Given the description of an element on the screen output the (x, y) to click on. 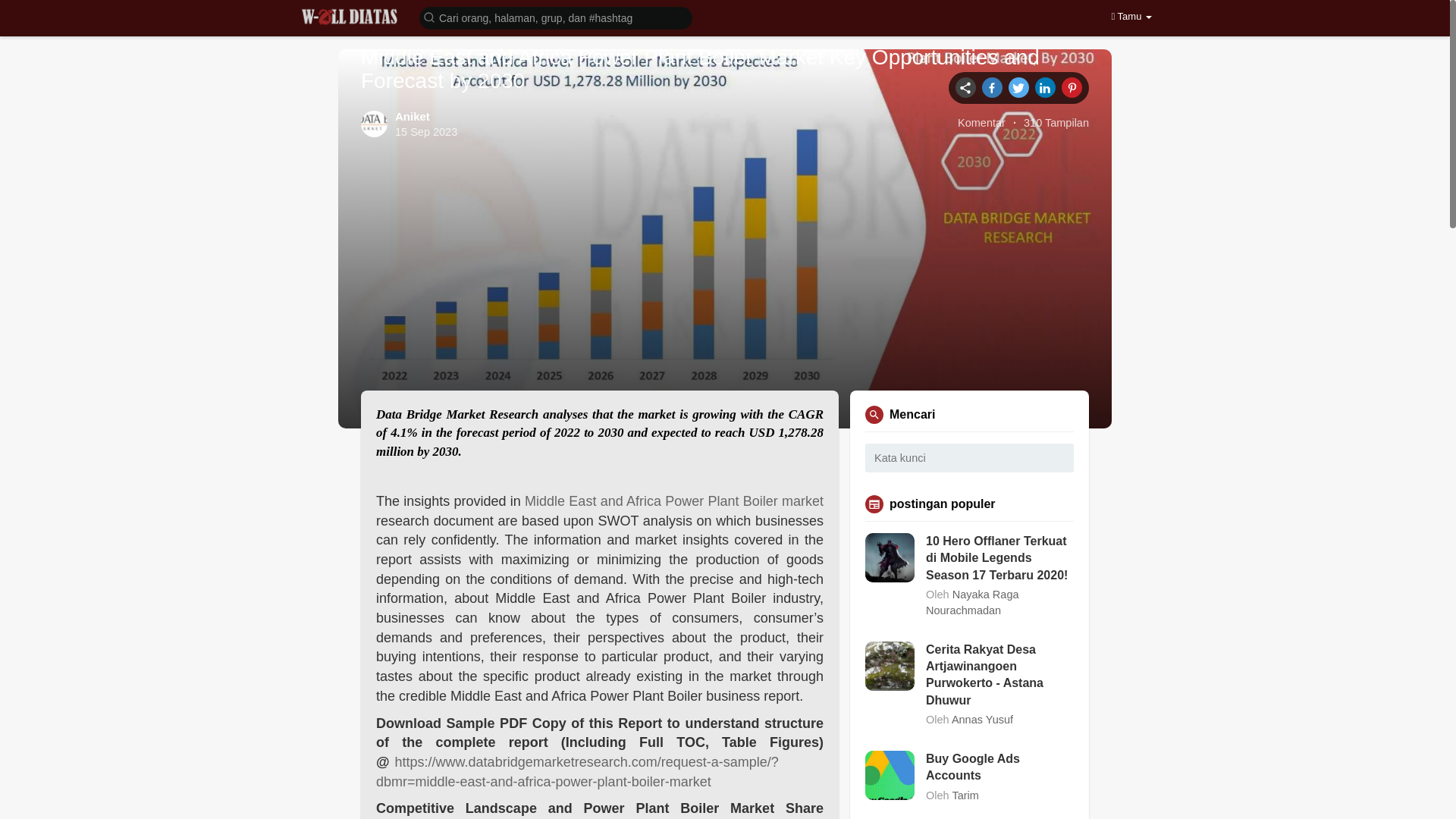
Middle East and Africa Power Plant Boiler market (674, 500)
Komentar (982, 123)
Cerita Rakyat Desa Artjawinangoen Purwokerto - Astana Dhuwur (1000, 675)
Aniket (411, 115)
Tamu (1131, 17)
Facebook (991, 86)
Nayaka Raga Nourachmadan (972, 602)
Linkedin (1045, 86)
